Given the description of an element on the screen output the (x, y) to click on. 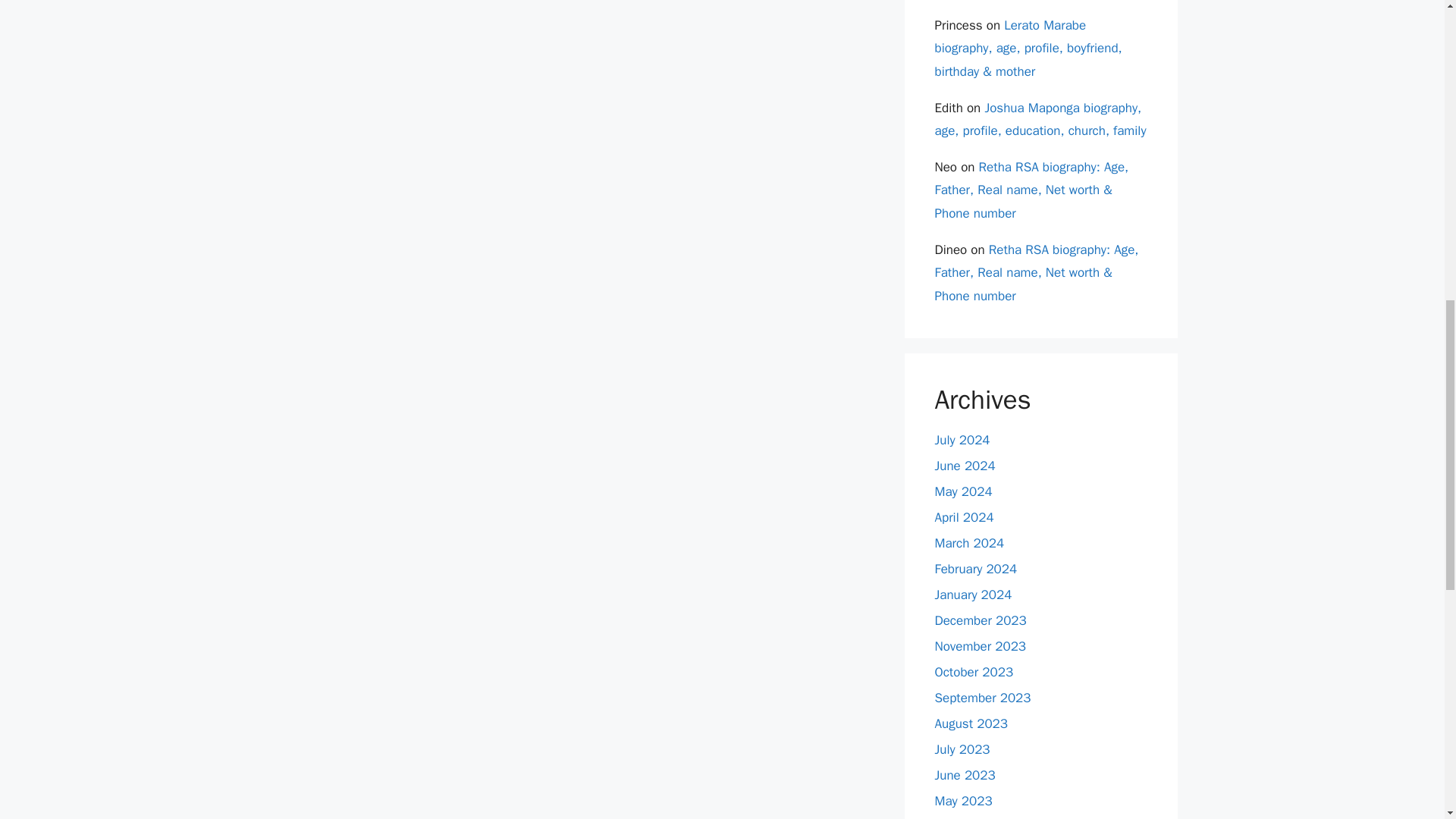
January 2024 (972, 594)
May 2024 (962, 491)
June 2023 (964, 774)
June 2024 (964, 465)
July 2023 (962, 749)
May 2023 (962, 801)
April 2024 (963, 517)
October 2023 (973, 672)
February 2024 (975, 569)
July 2024 (962, 439)
December 2023 (980, 620)
August 2023 (970, 723)
September 2023 (982, 697)
March 2024 (969, 543)
